Given the description of an element on the screen output the (x, y) to click on. 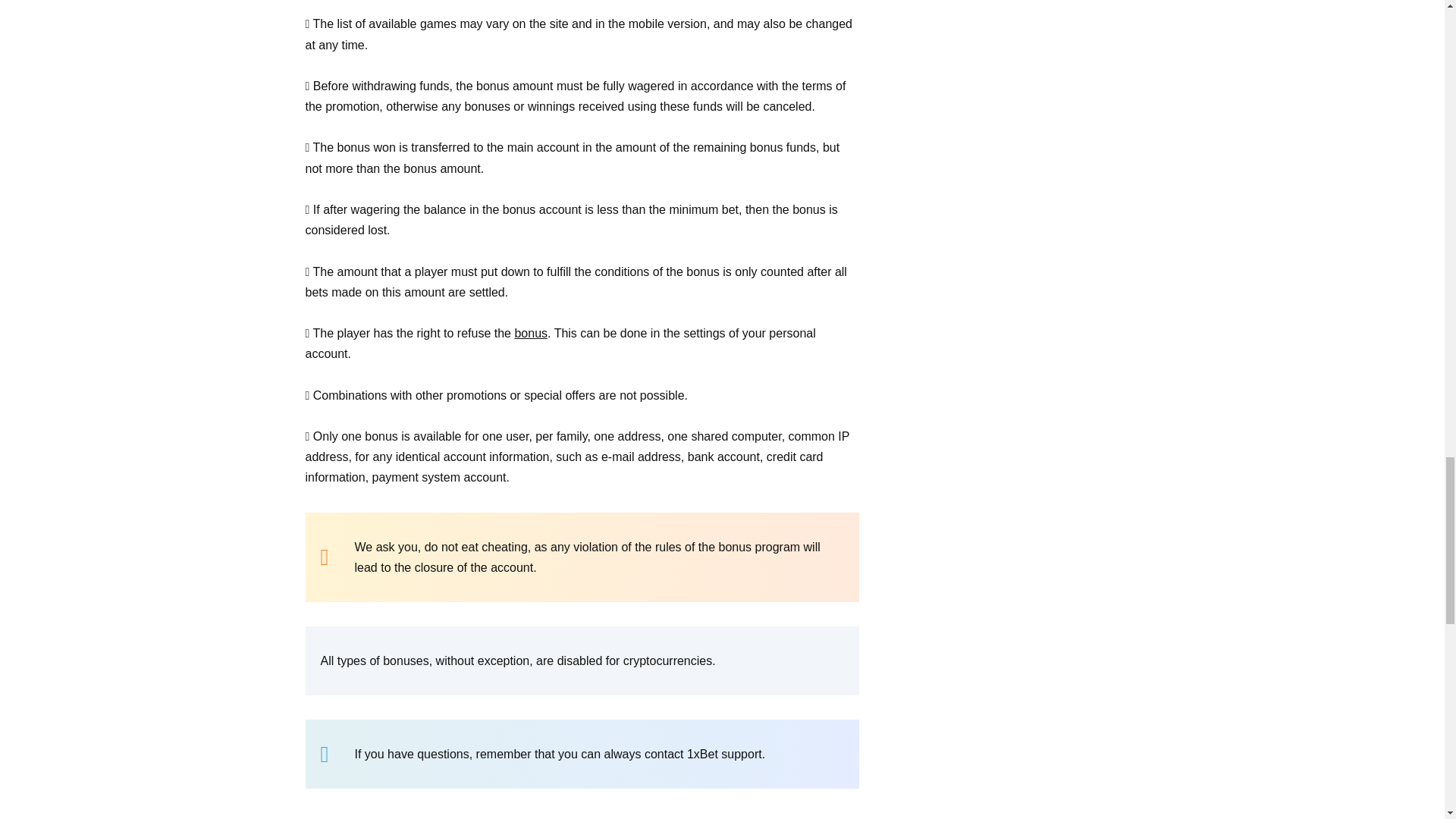
bonus (530, 332)
